Given the description of an element on the screen output the (x, y) to click on. 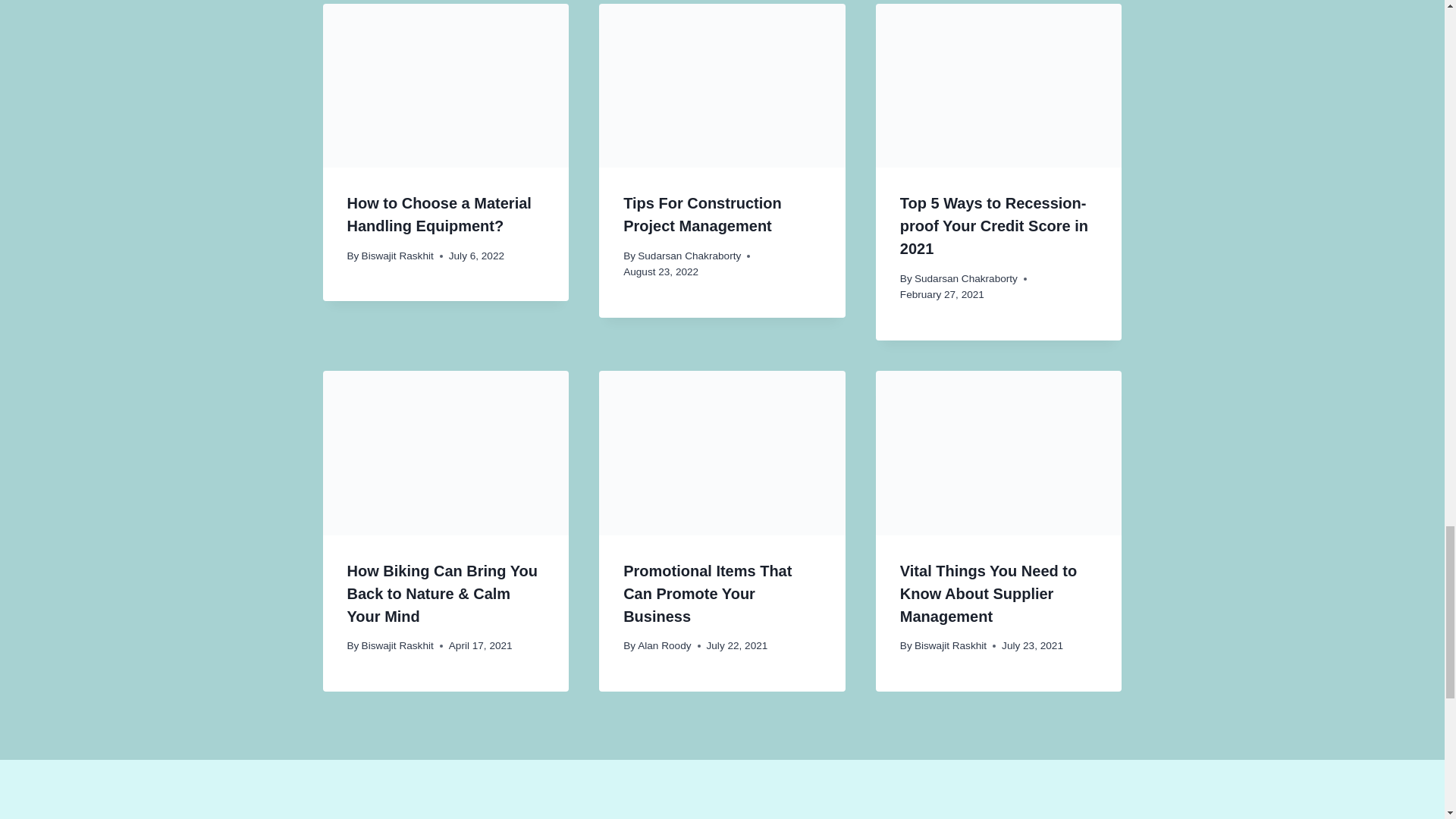
Biswajit Raskhit (397, 255)
How to Choose a Material Handling Equipment? (439, 214)
Sudarsan Chakraborty (689, 255)
Tips For Construction Project Management (702, 214)
